Given the description of an element on the screen output the (x, y) to click on. 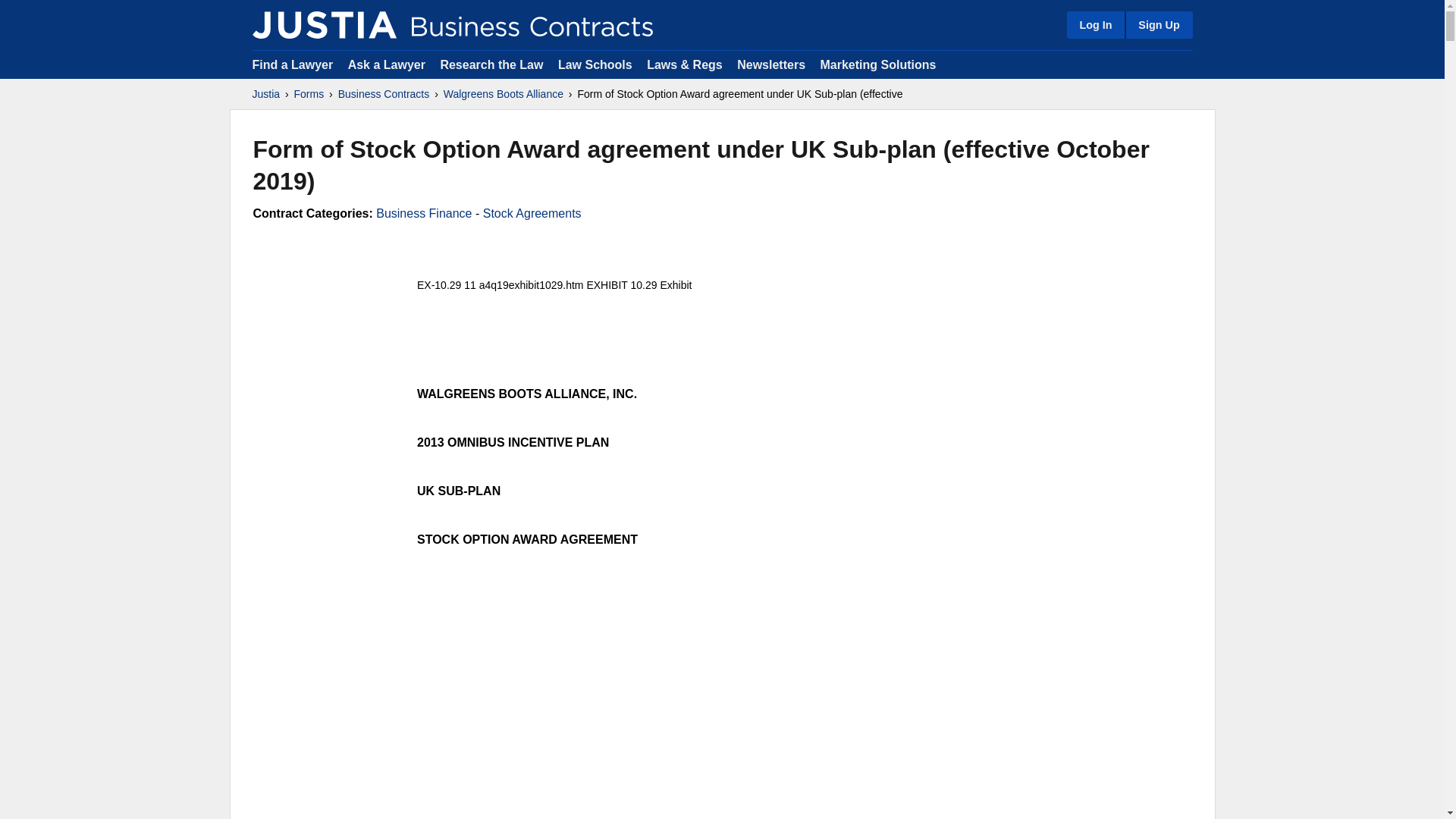
Justia (265, 93)
Forms (309, 93)
Stock Agreements (531, 213)
Find a Lawyer (292, 64)
Sign Up (1158, 24)
Marketing Solutions (877, 64)
Business Contracts (383, 93)
Law Schools (594, 64)
Research the Law (491, 64)
Walgreens Boots Alliance (503, 93)
Business Finance (423, 213)
Justia (323, 24)
Newsletters (770, 64)
Log In (1094, 24)
Ask a Lawyer (388, 64)
